Given the description of an element on the screen output the (x, y) to click on. 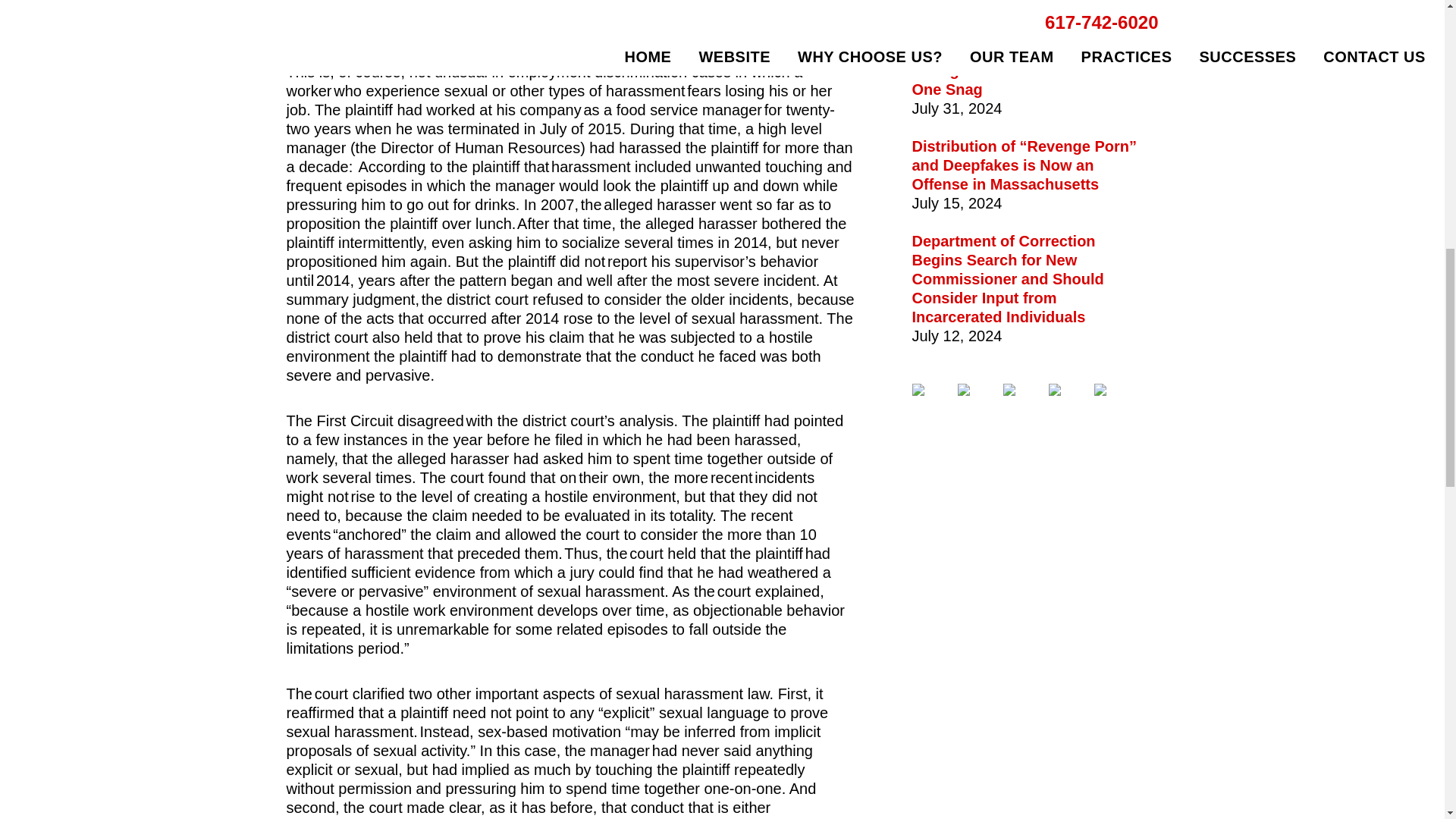
Facebook (926, 389)
Twitter (971, 389)
Feed (1108, 389)
LinkedIn (1017, 389)
Justia (1063, 389)
